Given the description of an element on the screen output the (x, y) to click on. 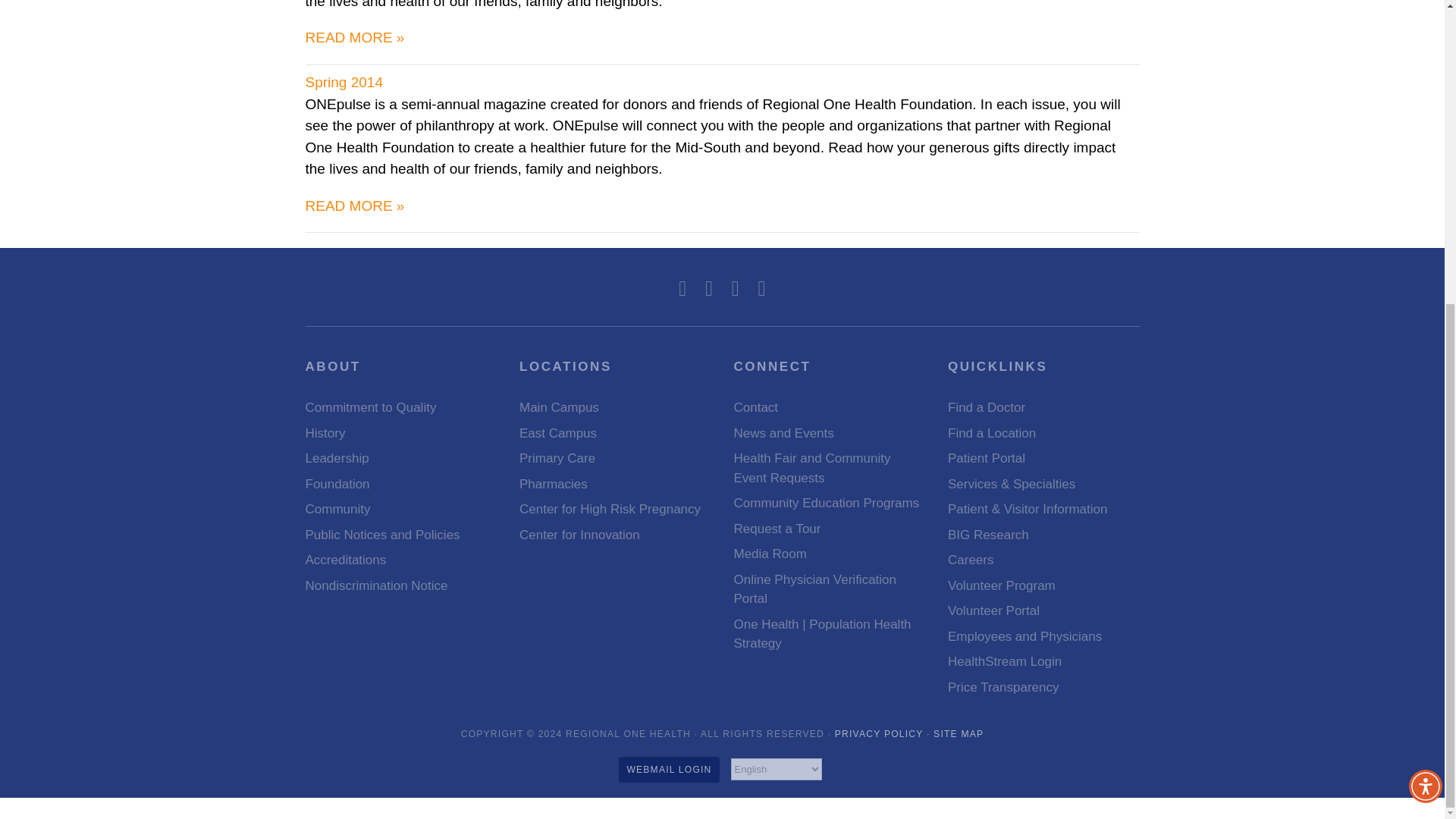
Accessibility Menu (1425, 308)
